Given the description of an element on the screen output the (x, y) to click on. 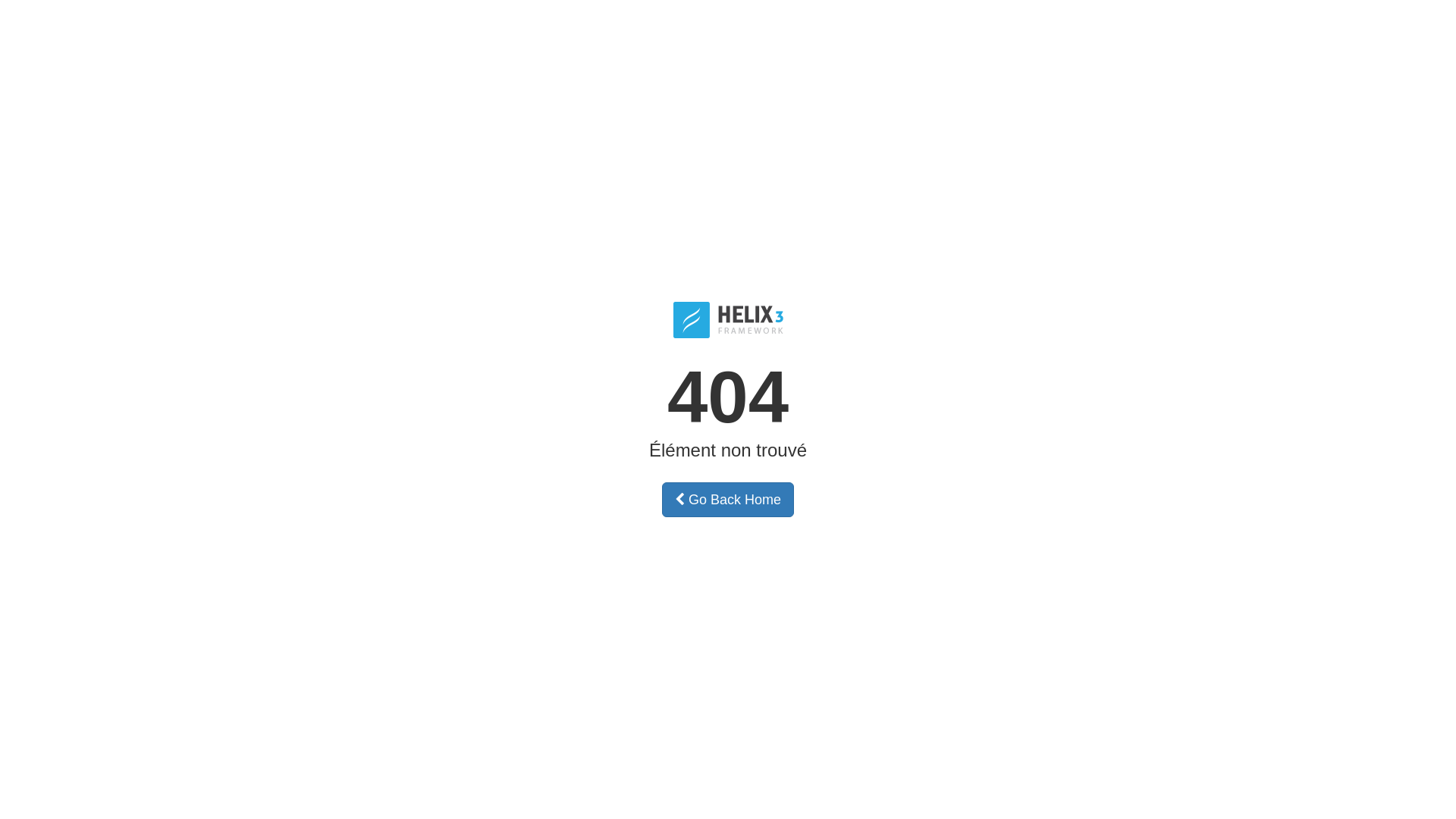
Go Back Home Element type: text (727, 499)
